Given the description of an element on the screen output the (x, y) to click on. 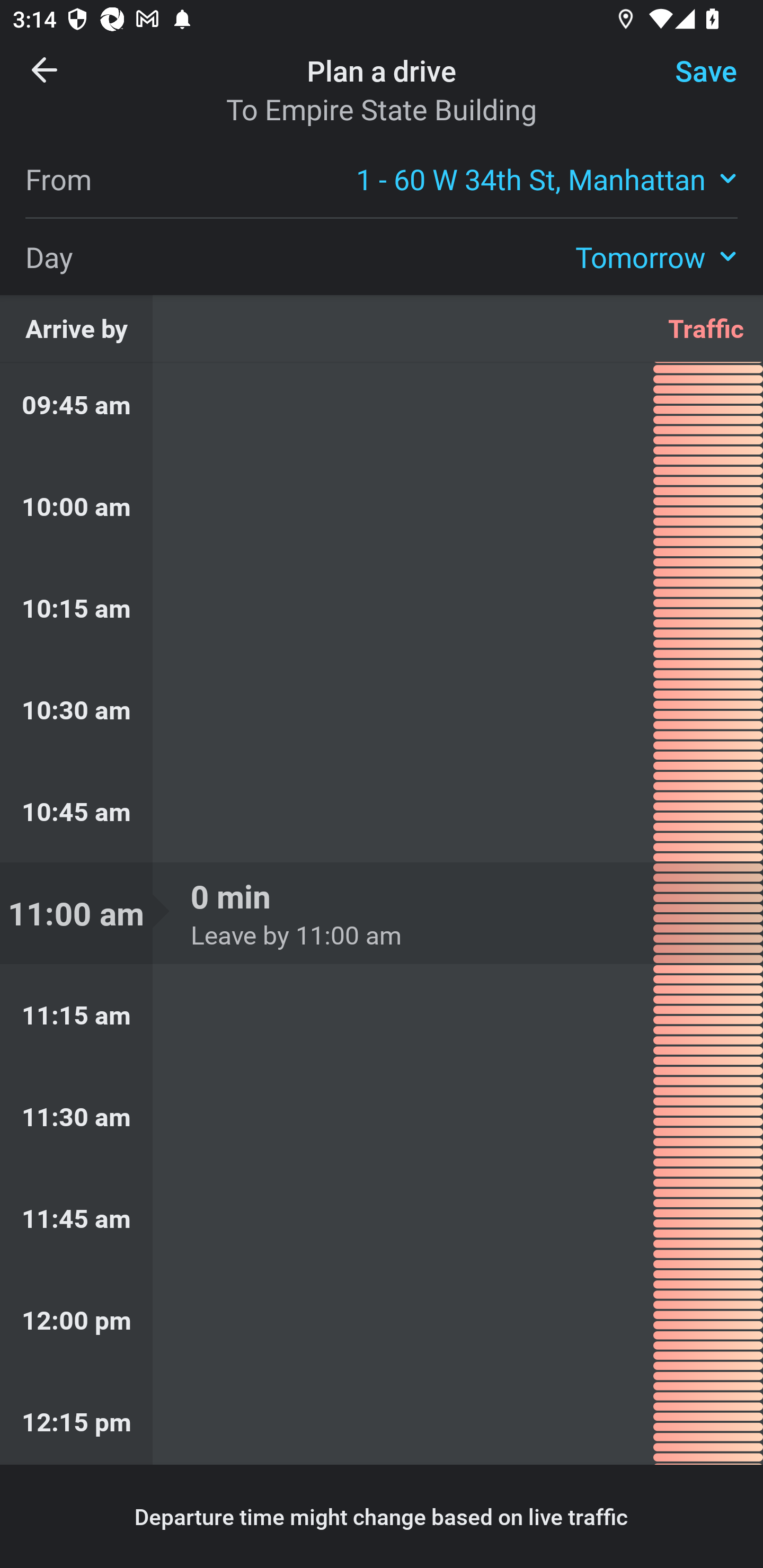
Settings (690, 82)
1 - 60 W 34th St, Manhattan (546, 178)
Tomorrow (656, 255)
09:45 am (381, 409)
10:00 am (381, 506)
10:15 am (381, 607)
10:30 am (381, 709)
10:45 am (381, 811)
11:00 am 0 min Leave by 11:00 am (381, 913)
11:15 am (381, 1015)
11:30 am (381, 1117)
11:45 am (381, 1218)
12:00 pm (381, 1319)
12:15 pm (381, 1417)
